Given the description of an element on the screen output the (x, y) to click on. 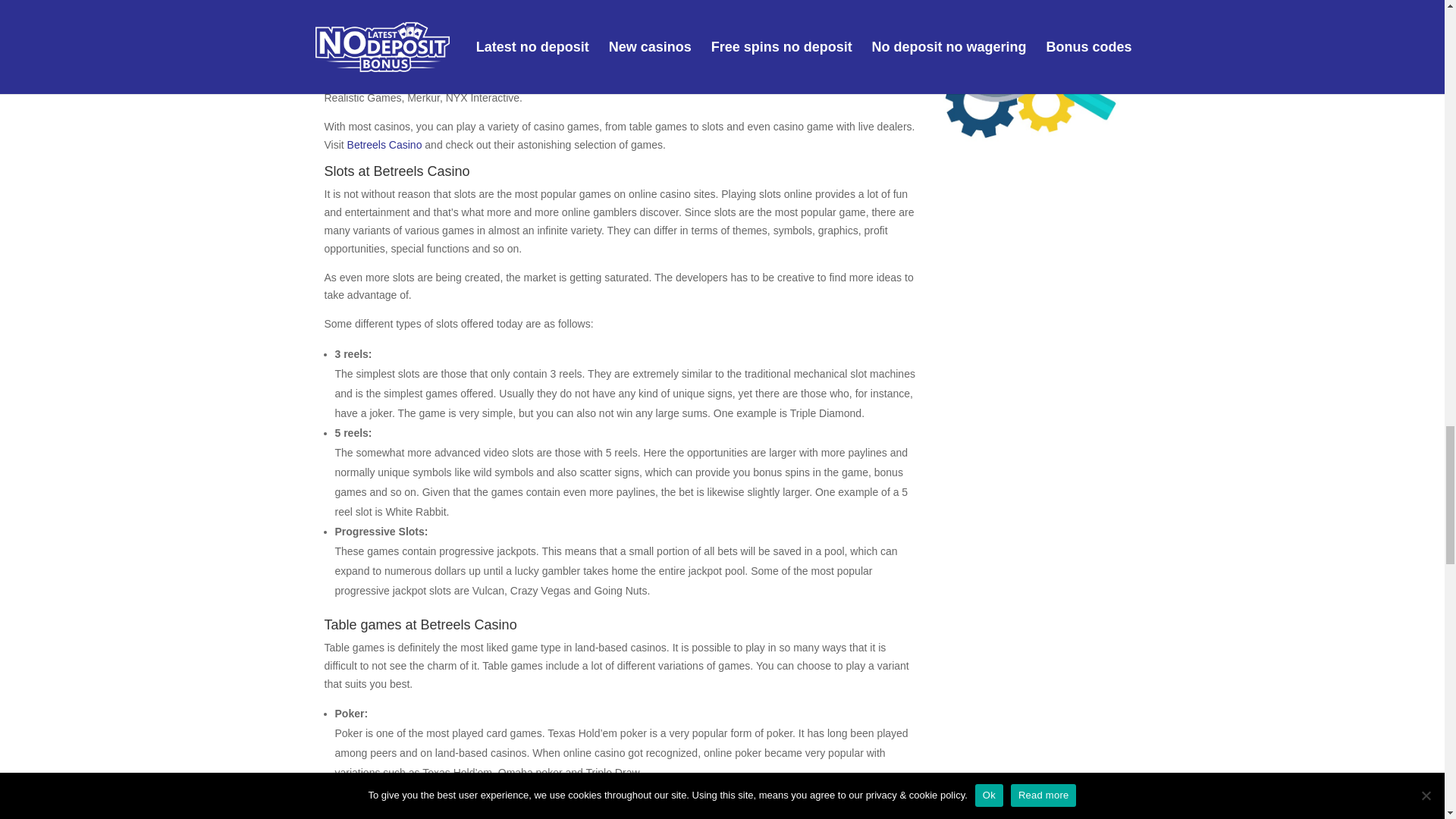
Betreels Casino (384, 144)
